Given the description of an element on the screen output the (x, y) to click on. 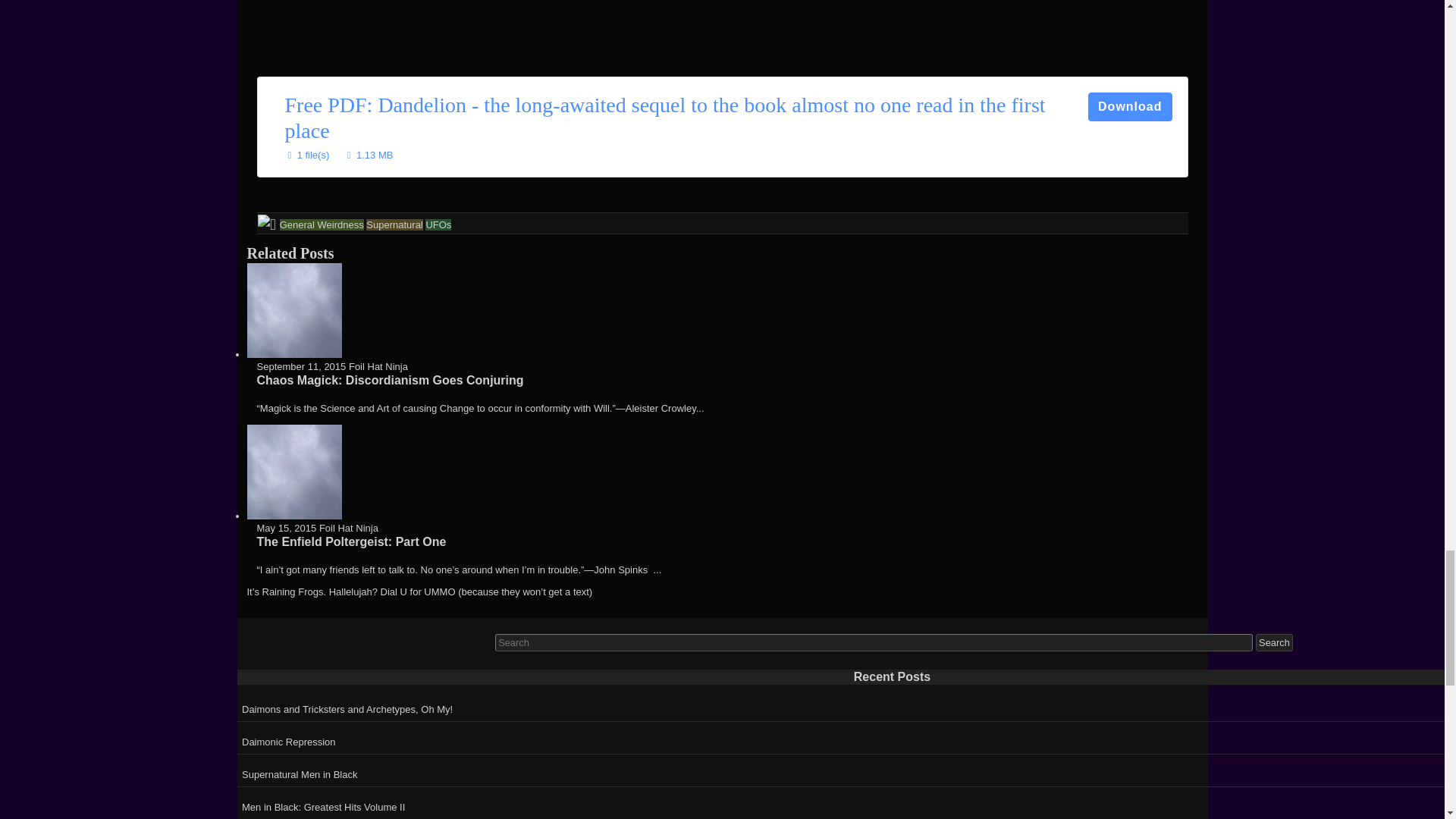
Search (1273, 642)
Men in Black: Greatest Hits Volume II (845, 805)
May 15, 2015 (285, 527)
UFOs (438, 224)
Supernatural (394, 224)
Daimons and Tricksters and Archetypes, Oh My! (845, 707)
The Enfield Poltergeist: Part One (350, 541)
Foil Hat Ninja (378, 366)
Chaos Magick: Discordianism Goes Conjuring (389, 379)
Supernatural Men in Black (845, 772)
September 11, 2015 (301, 366)
Foil Hat Ninja (348, 527)
Daimonic Repression (845, 739)
Search (1273, 642)
Download (1129, 106)
